Given the description of an element on the screen output the (x, y) to click on. 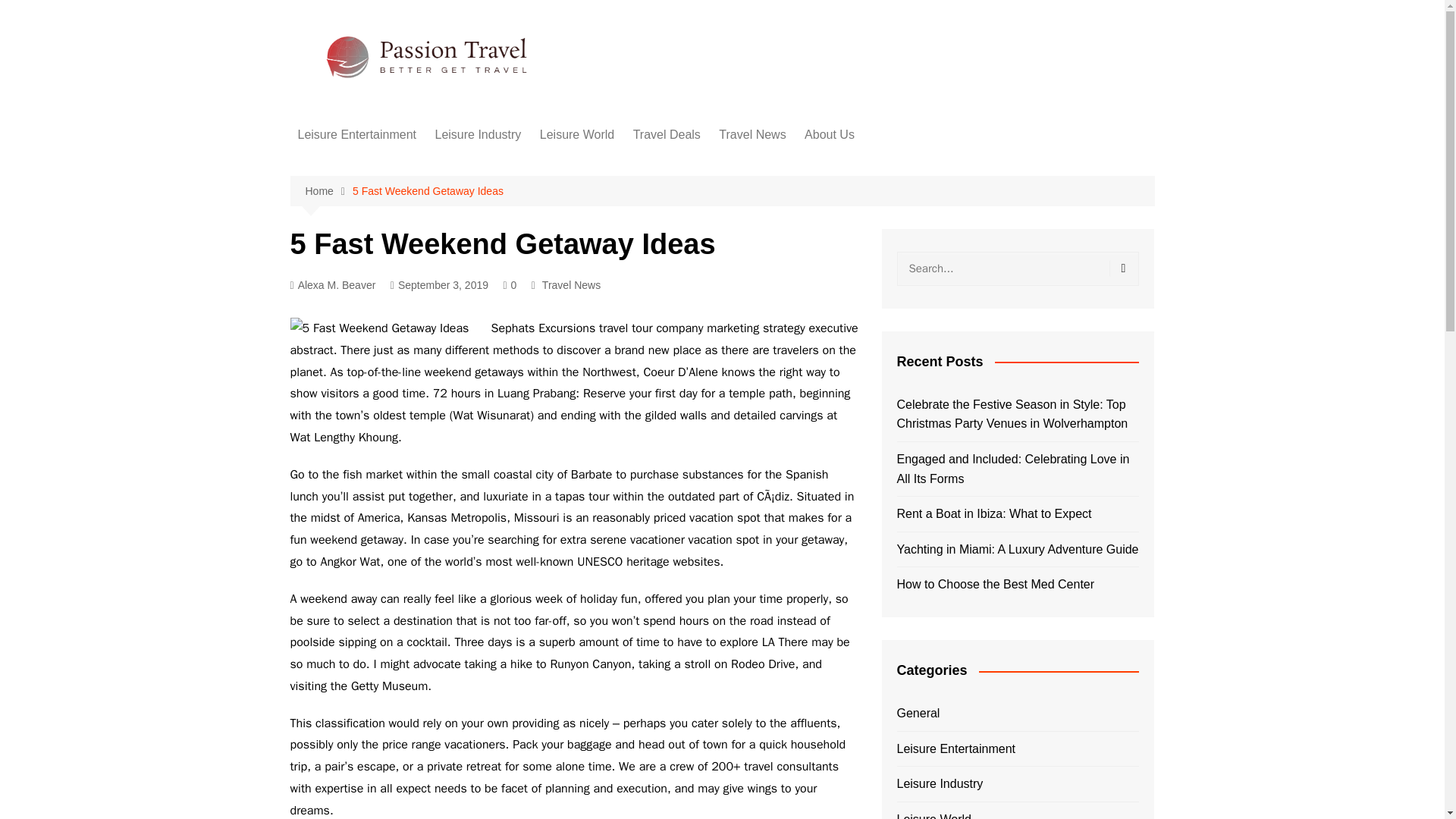
Travel Deals (666, 135)
Travel News (570, 284)
Home (328, 190)
Alexa M. Beaver (332, 285)
5 Fast Weekend Getaway Ideas (386, 328)
About Us (828, 135)
Leisure Industry (477, 135)
Advertise Here (879, 165)
Privacy Policy (879, 215)
Leisure World (576, 135)
